Given the description of an element on the screen output the (x, y) to click on. 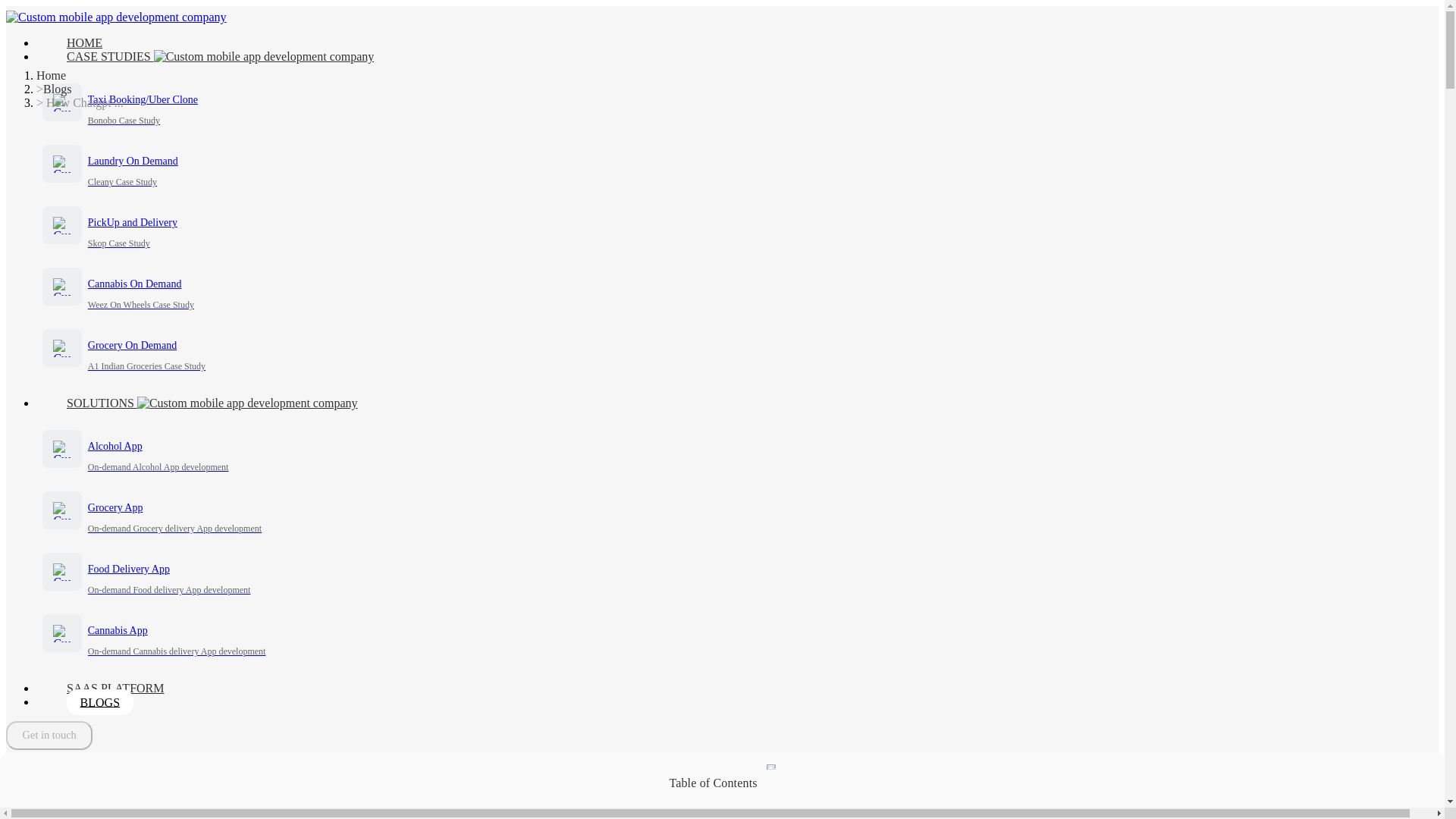
HOME (83, 42)
 Get in touch  (49, 735)
BLOGS (737, 514)
Blogs (99, 702)
